Given the description of an element on the screen output the (x, y) to click on. 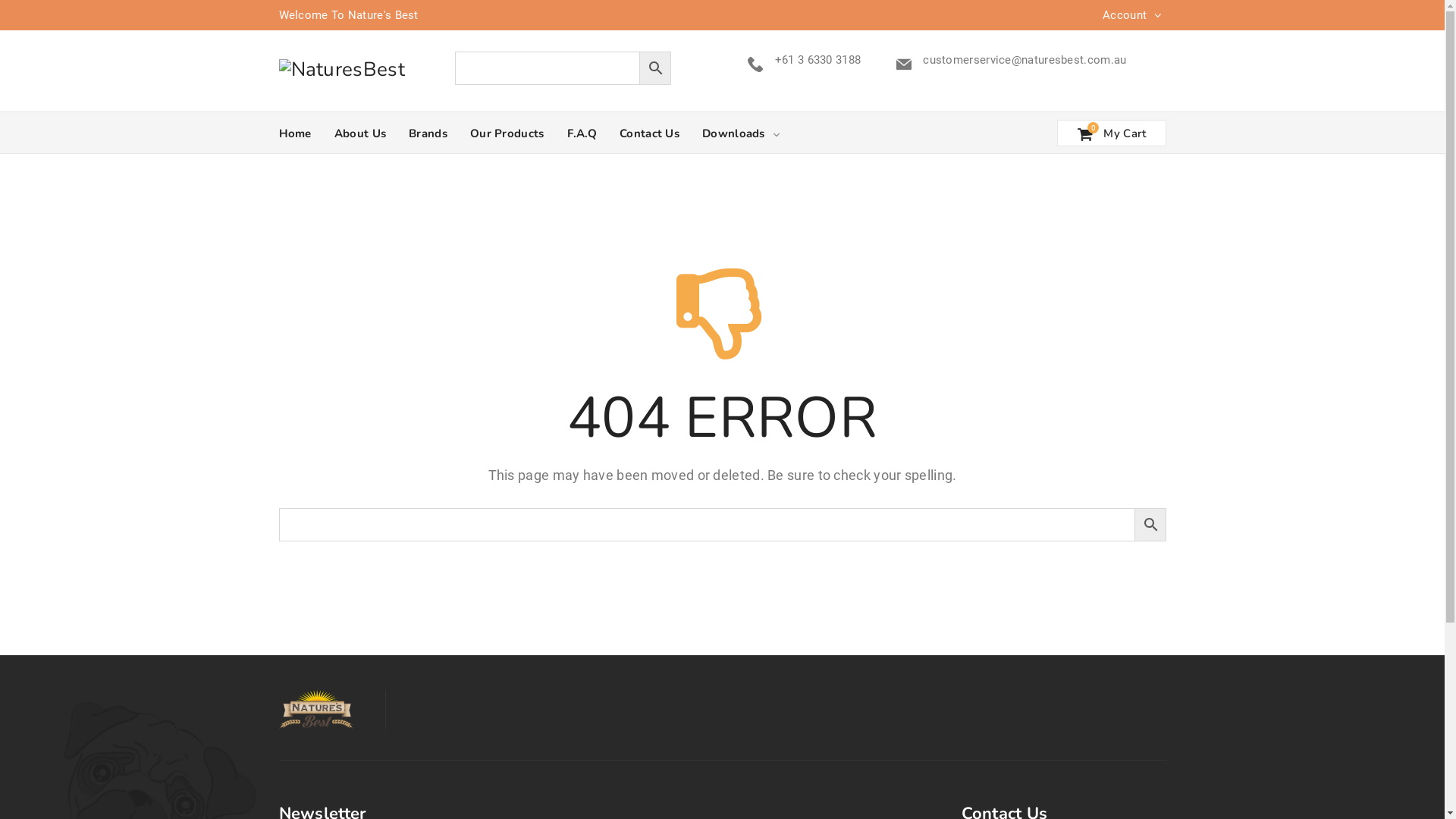
Contact Us Element type: text (649, 133)
F.A.Q Element type: text (582, 133)
About Us Element type: text (359, 133)
Our Products Element type: text (507, 133)
Home Element type: text (295, 133)
NaturesBest Element type: hover (341, 68)
0 Element type: text (1093, 126)
Brands Element type: text (427, 133)
customerservice@naturesbest.com.au Element type: text (1024, 59)
Downloads Element type: text (741, 133)
